Given the description of an element on the screen output the (x, y) to click on. 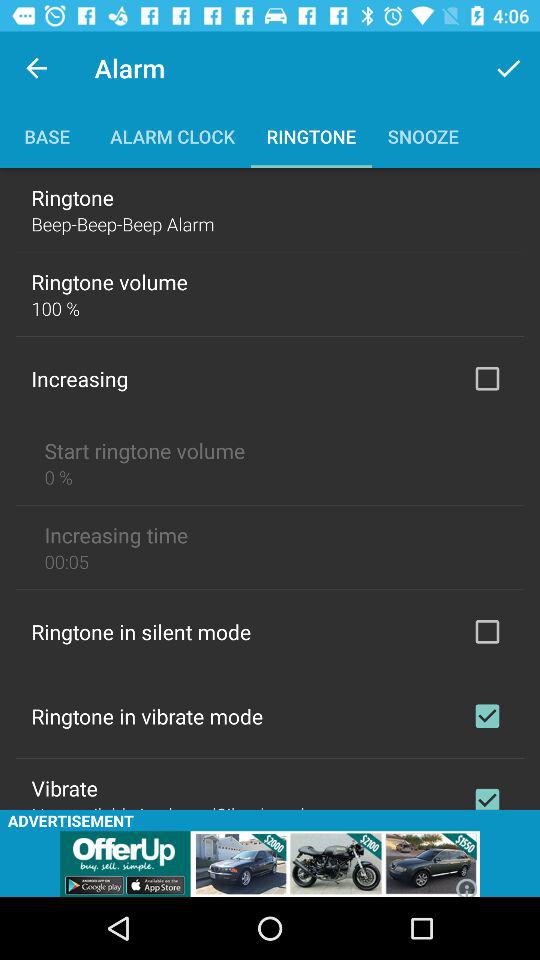
toggle vibrate option (487, 794)
